Given the description of an element on the screen output the (x, y) to click on. 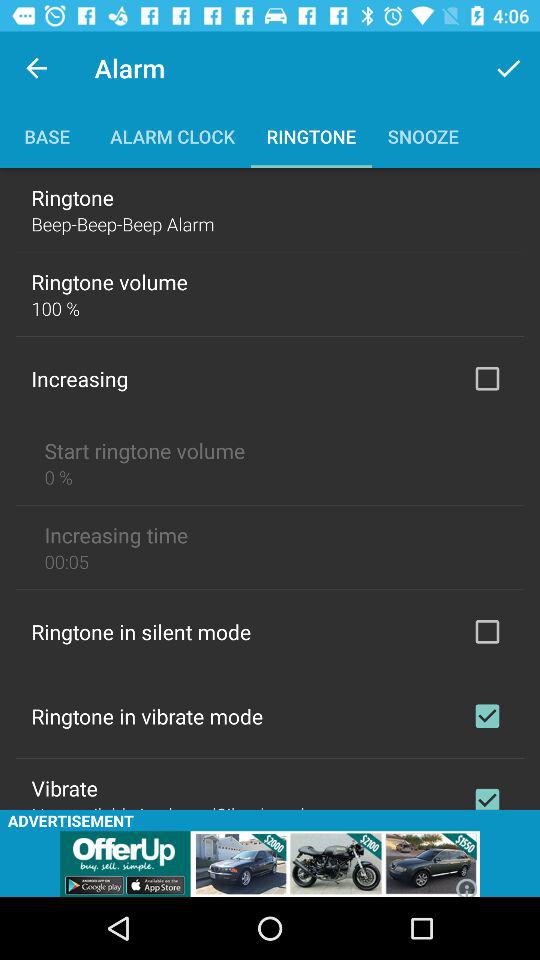
toggle vibrate option (487, 794)
